Given the description of an element on the screen output the (x, y) to click on. 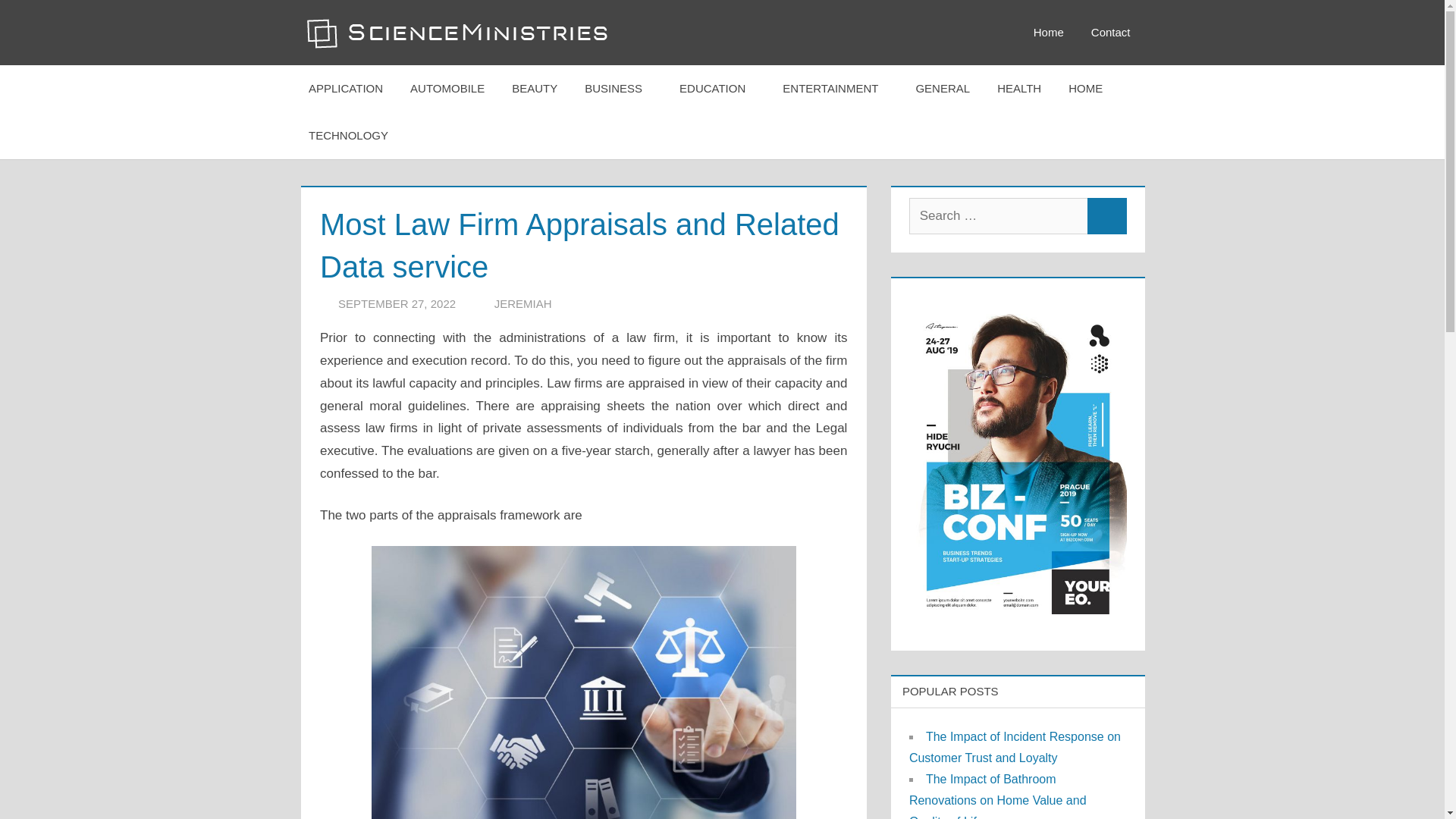
AUTOMOBILE (446, 88)
APPLICATION (345, 88)
TECHNOLOGY (353, 135)
Search for: (997, 216)
BEAUTY (533, 88)
GENERAL (942, 88)
HOME (1089, 88)
EDUCATION (716, 88)
Home (1048, 32)
12:29 pm (396, 303)
View all posts by Jeremiah (523, 303)
Contact (1110, 32)
ENTERTAINMENT (834, 88)
HEALTH (1019, 88)
BUSINESS (617, 88)
